Given the description of an element on the screen output the (x, y) to click on. 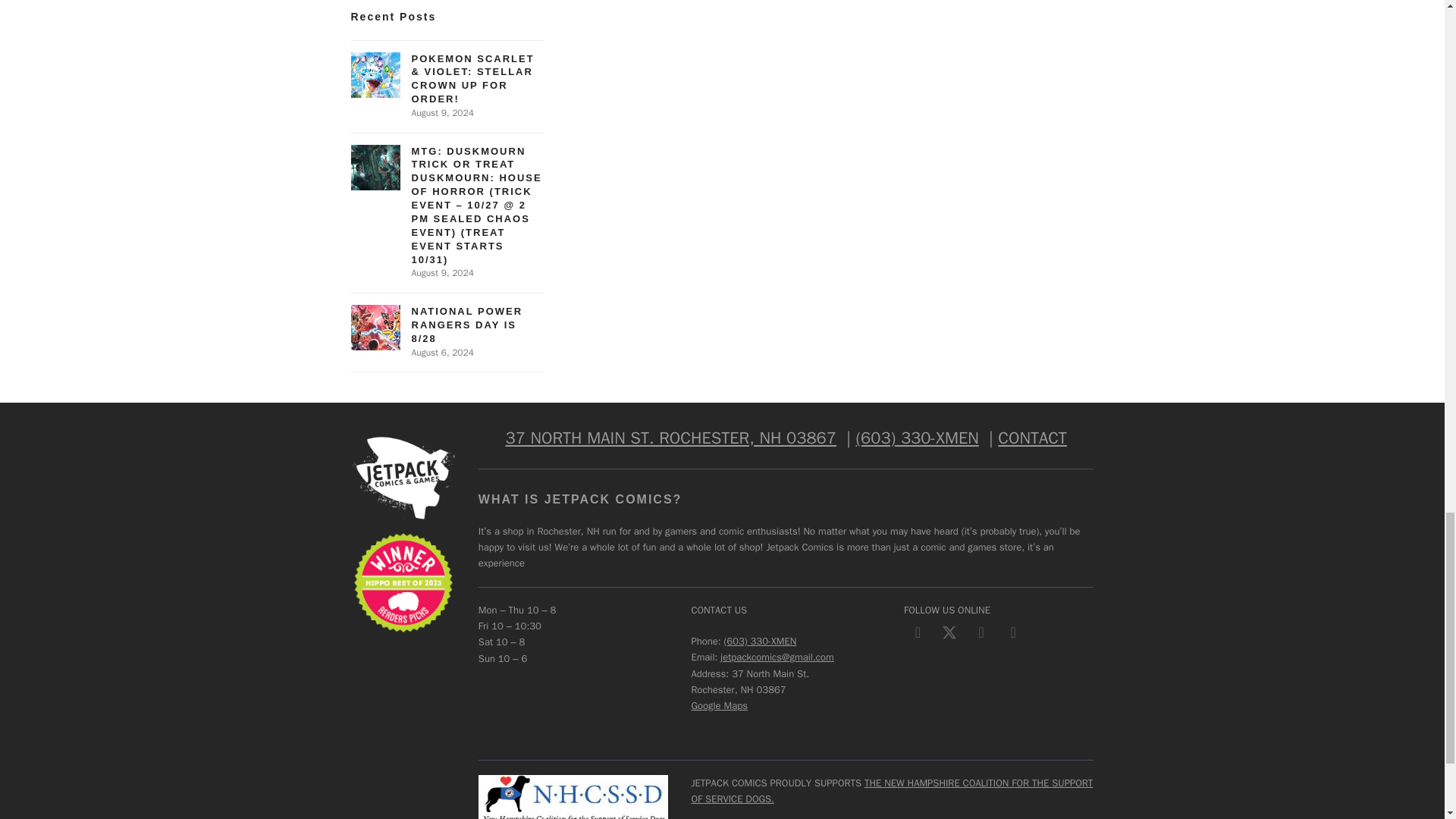
2023-BestOf-WINNERBADGE-Pink-1 (402, 581)
Twitter (949, 632)
Instagram (981, 632)
nhcssd (573, 796)
Facebook (917, 632)
jetpack-double-logo-white (402, 477)
Tripadvisor (1012, 632)
